Given the description of an element on the screen output the (x, y) to click on. 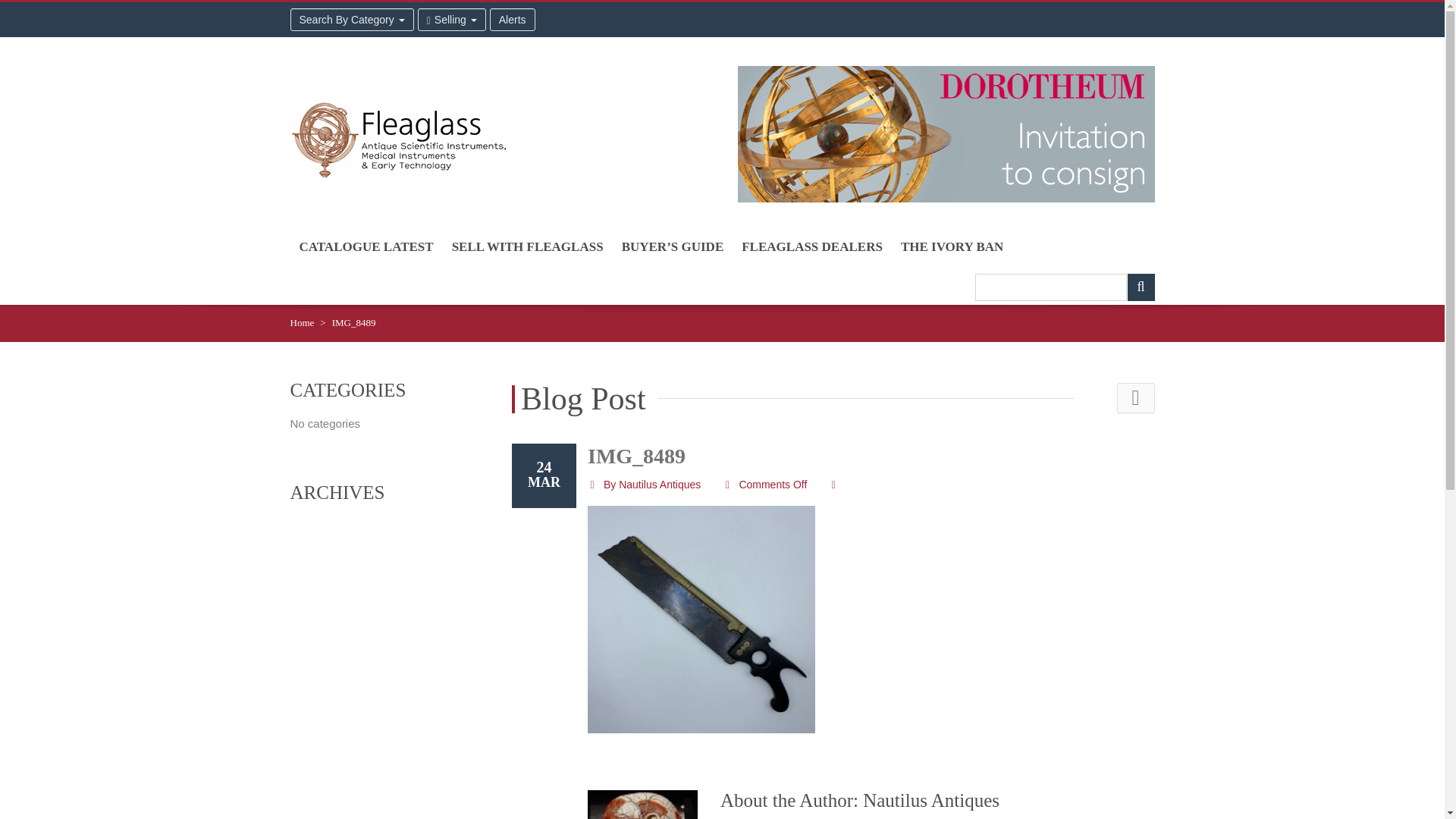
SELL WITH FLEAGLASS (527, 246)
THE IVORY BAN (951, 246)
Alerts (512, 19)
Selling (451, 19)
Search By Category (351, 19)
CATALOGUE LATEST (365, 246)
FLEAGLASS DEALERS (811, 246)
Search By Category (351, 19)
